Given the description of an element on the screen output the (x, y) to click on. 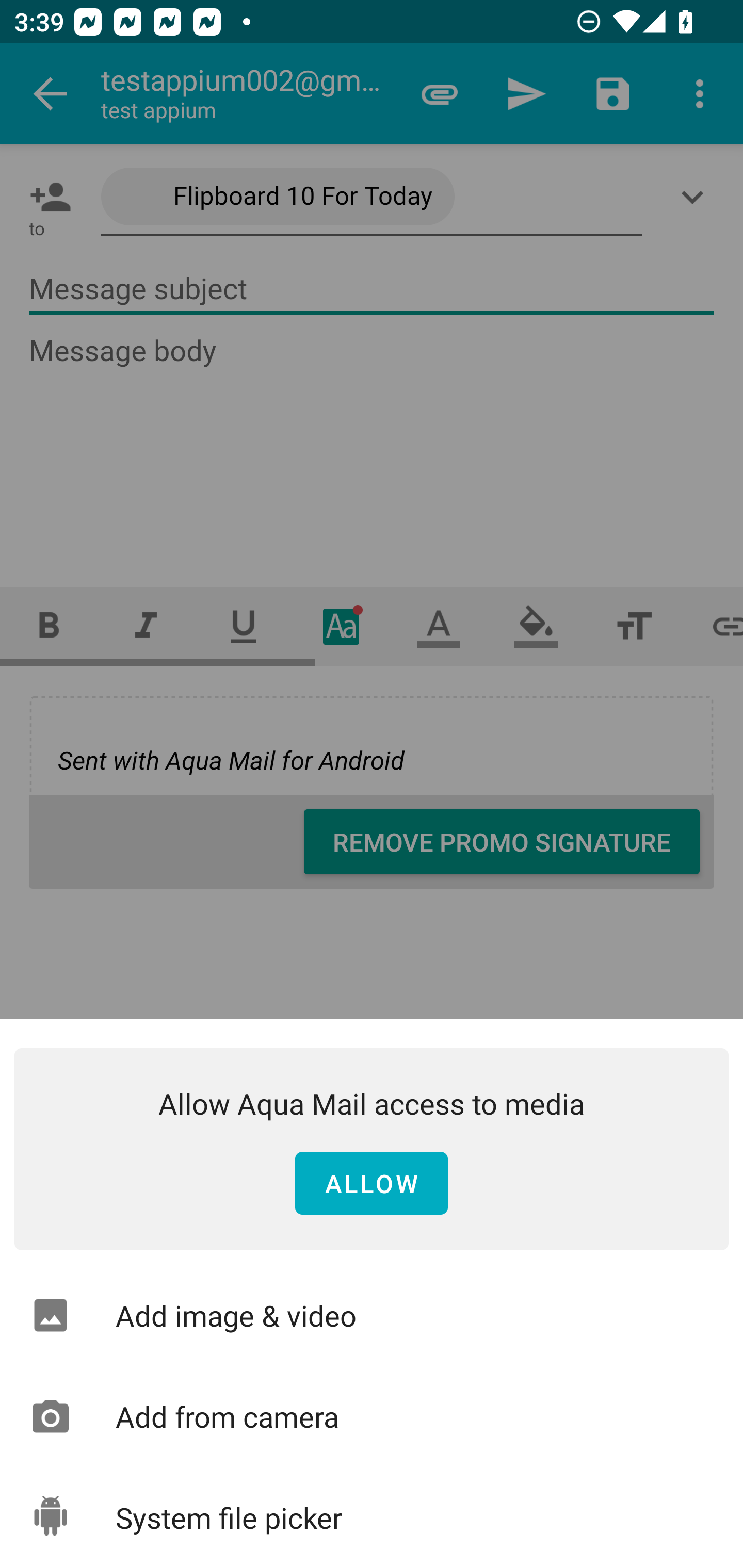
ALLOW (371, 1183)
